Given the description of an element on the screen output the (x, y) to click on. 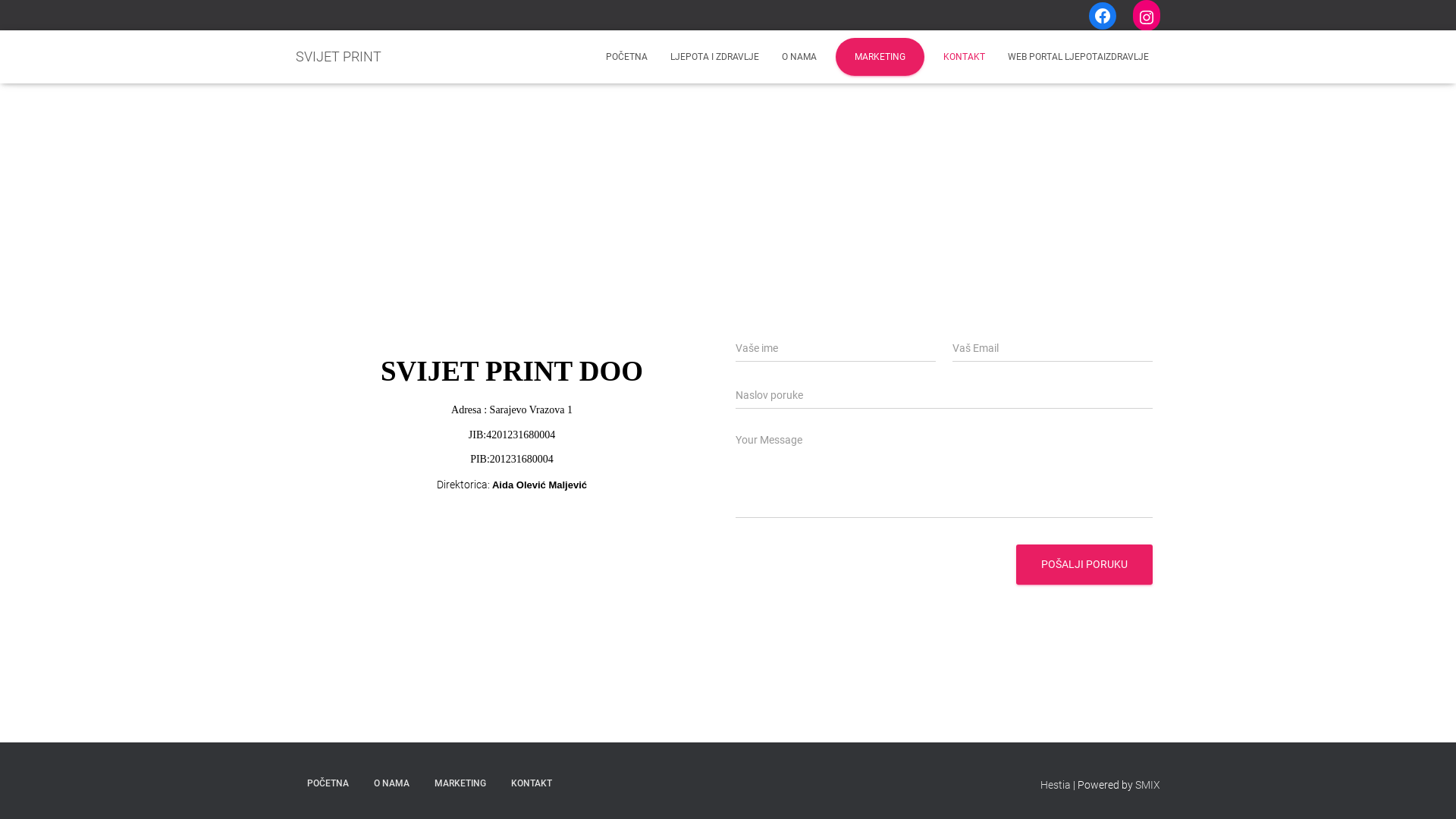
WEB PORTAL LJEPOTAIZDRAVLJE Element type: text (1078, 56)
MARKETING Element type: text (460, 783)
MARKETING Element type: text (879, 56)
SMIX Element type: text (1147, 784)
SVIJET PRINT Element type: text (338, 56)
Hestia Element type: text (1055, 784)
KONTAKT Element type: text (963, 56)
LJEPOTA I ZDRAVLJE Element type: text (714, 56)
O NAMA Element type: text (799, 56)
O NAMA Element type: text (391, 783)
KONTAKT Element type: text (531, 783)
